Given the description of an element on the screen output the (x, y) to click on. 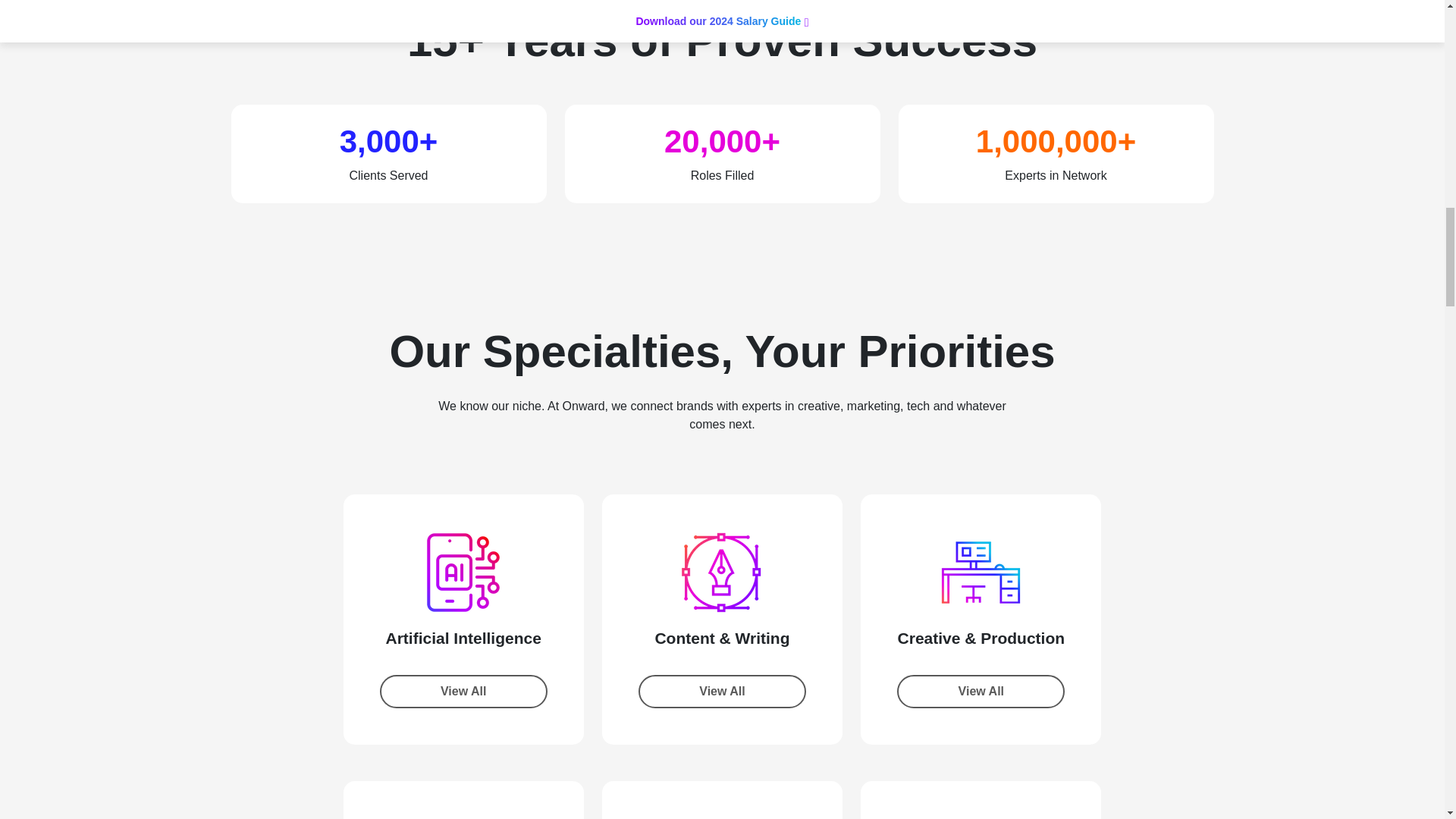
View All (462, 691)
View All (980, 691)
View All (722, 691)
